Given the description of an element on the screen output the (x, y) to click on. 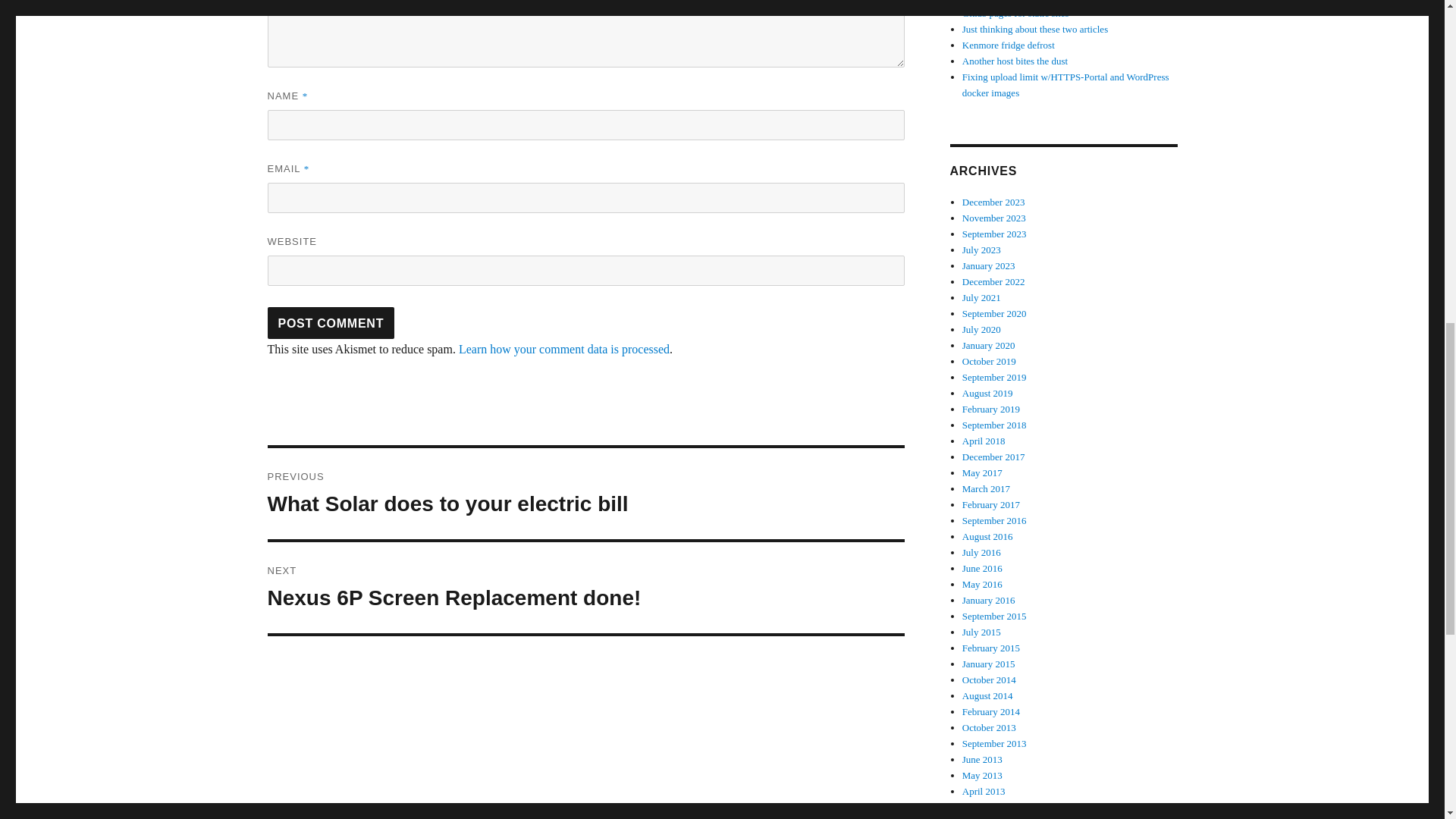
Post Comment (330, 323)
February 2019 (991, 408)
December 2022 (993, 281)
April 2018 (984, 440)
October 2019 (989, 360)
Just thinking about these two articles (1035, 29)
Post Comment (585, 587)
July 2021 (330, 323)
